Given the description of an element on the screen output the (x, y) to click on. 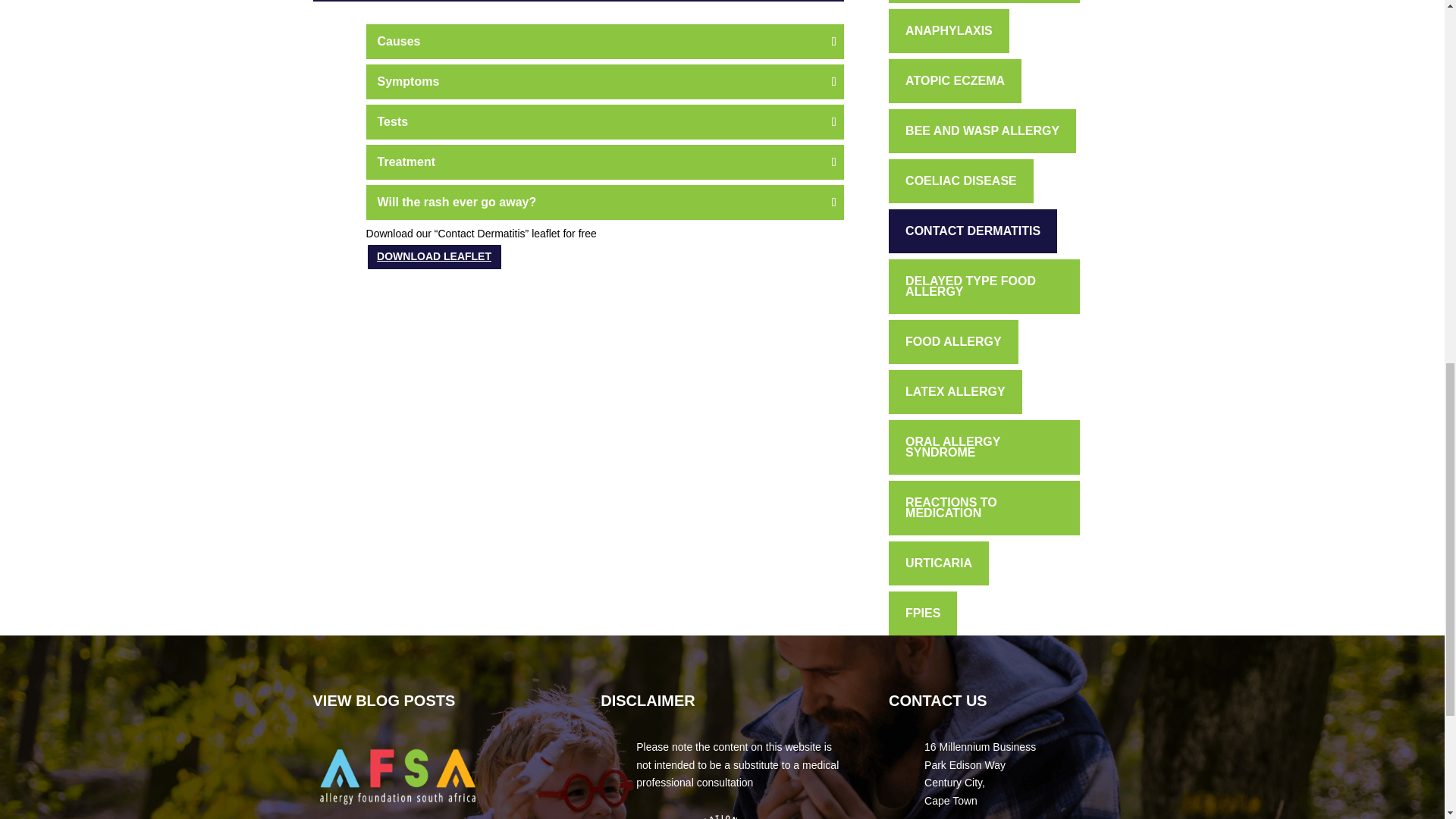
Group 28 (722, 816)
